Given the description of an element on the screen output the (x, y) to click on. 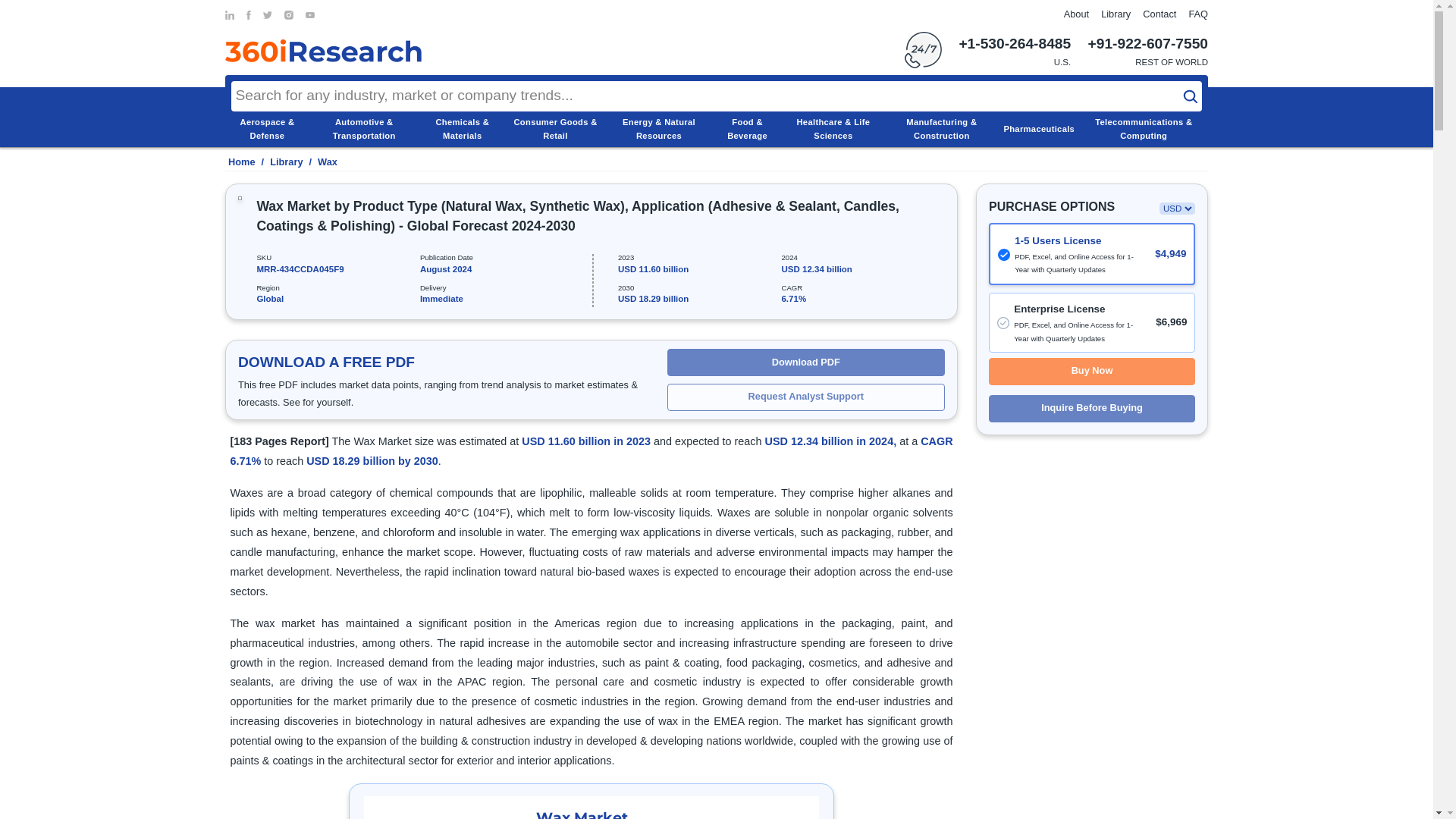
360iResearch Twitter (267, 14)
About (1076, 13)
Home (240, 161)
Wax (327, 161)
360iResearch 24-7 (923, 49)
Library (285, 161)
About (1076, 13)
Contact (1159, 13)
FAQ (1198, 13)
Library (1115, 13)
